Given the description of an element on the screen output the (x, y) to click on. 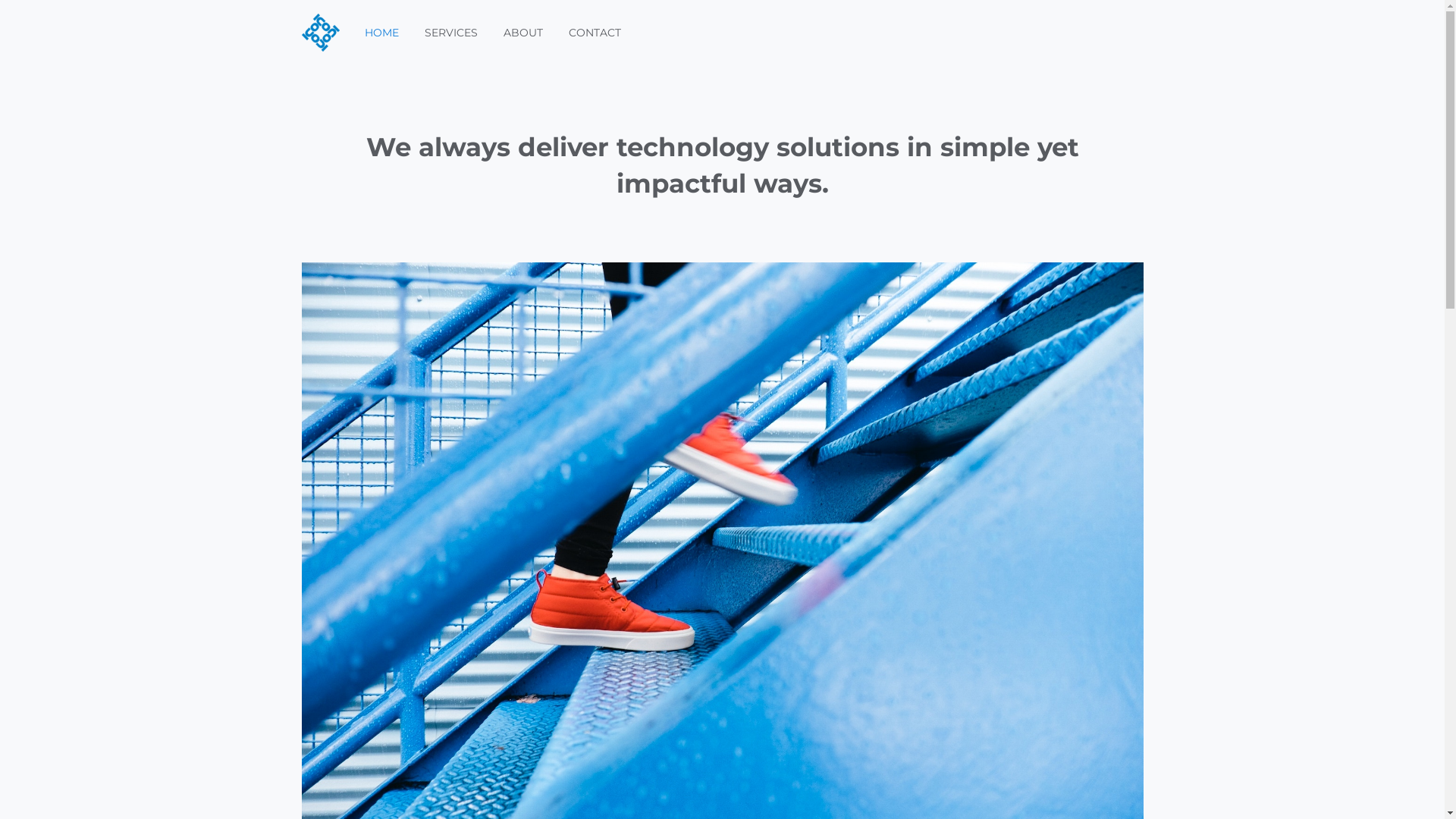
CONTACT Element type: text (594, 32)
SERVICES Element type: text (450, 32)
ABOUT Element type: text (522, 32)
HOME Element type: text (381, 32)
